Given the description of an element on the screen output the (x, y) to click on. 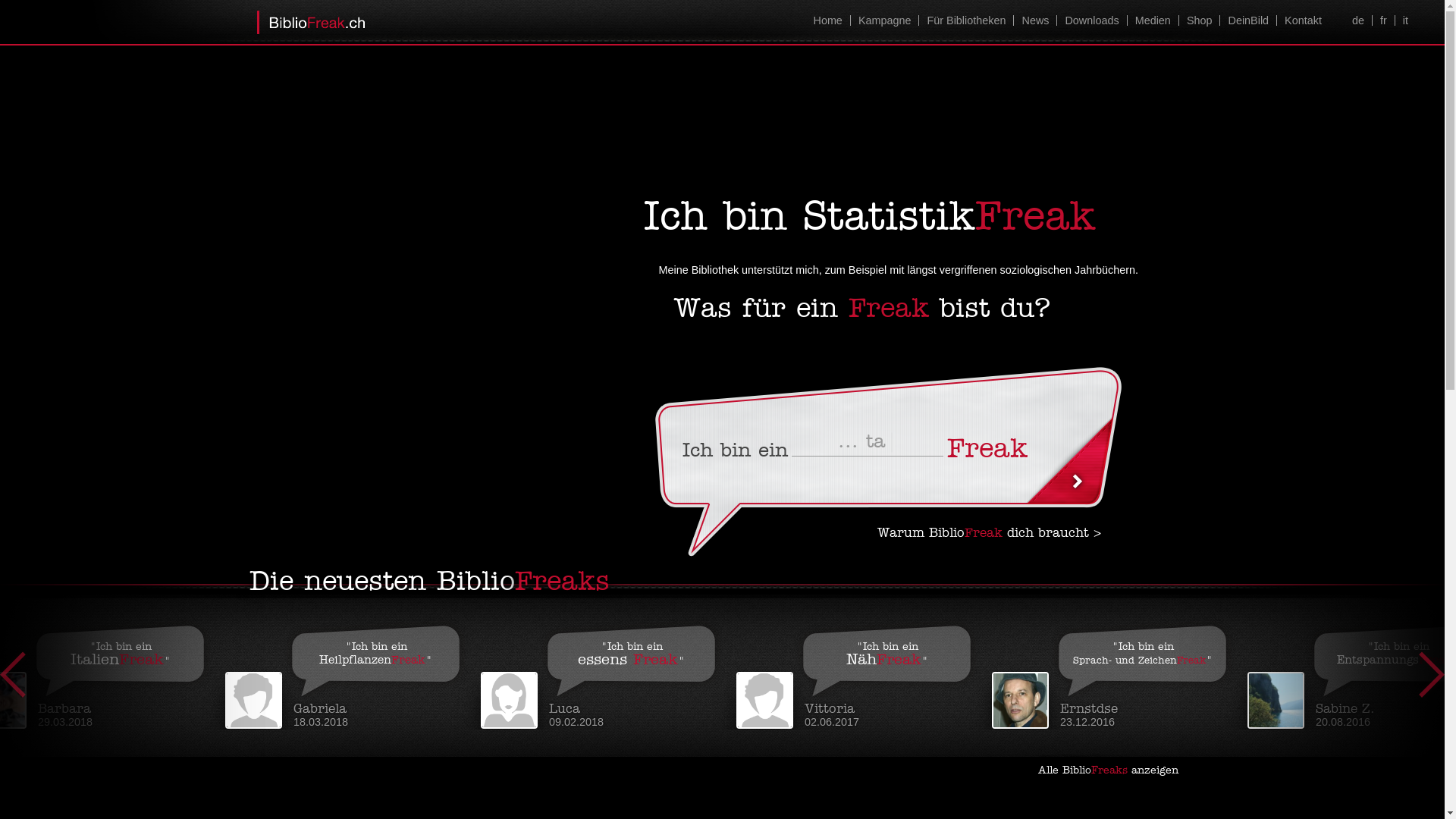
"Ich bin ein
essens Freak"
Luca
09.02.2018 Element type: text (608, 673)
it Element type: text (1404, 20)
DeinBild Element type: text (1247, 20)
Alle BiblioFreaks anzeigen Element type: text (1113, 770)
"Ich bin ein
HeilpflanzenFreak"
Gabriela
18.03.2018 Element type: text (352, 673)
"Ich bin ein
Sprach- und ZeichenFreak"
Ernstdse
23.12.2016 Element type: text (1119, 673)
de Element type: text (1357, 20)
Medien Element type: text (1152, 20)
Die neuesten BiblioFreaks Element type: text (428, 582)
News Element type: text (1034, 20)
Warum BiblioFreak dich braucht > Element type: text (988, 533)
Shop Element type: text (1199, 20)
Kampagne Element type: text (884, 20)
Downloads Element type: text (1091, 20)
Kontakt Element type: text (1302, 20)
Home Element type: text (827, 20)
fr Element type: text (1382, 20)
